Given the description of an element on the screen output the (x, y) to click on. 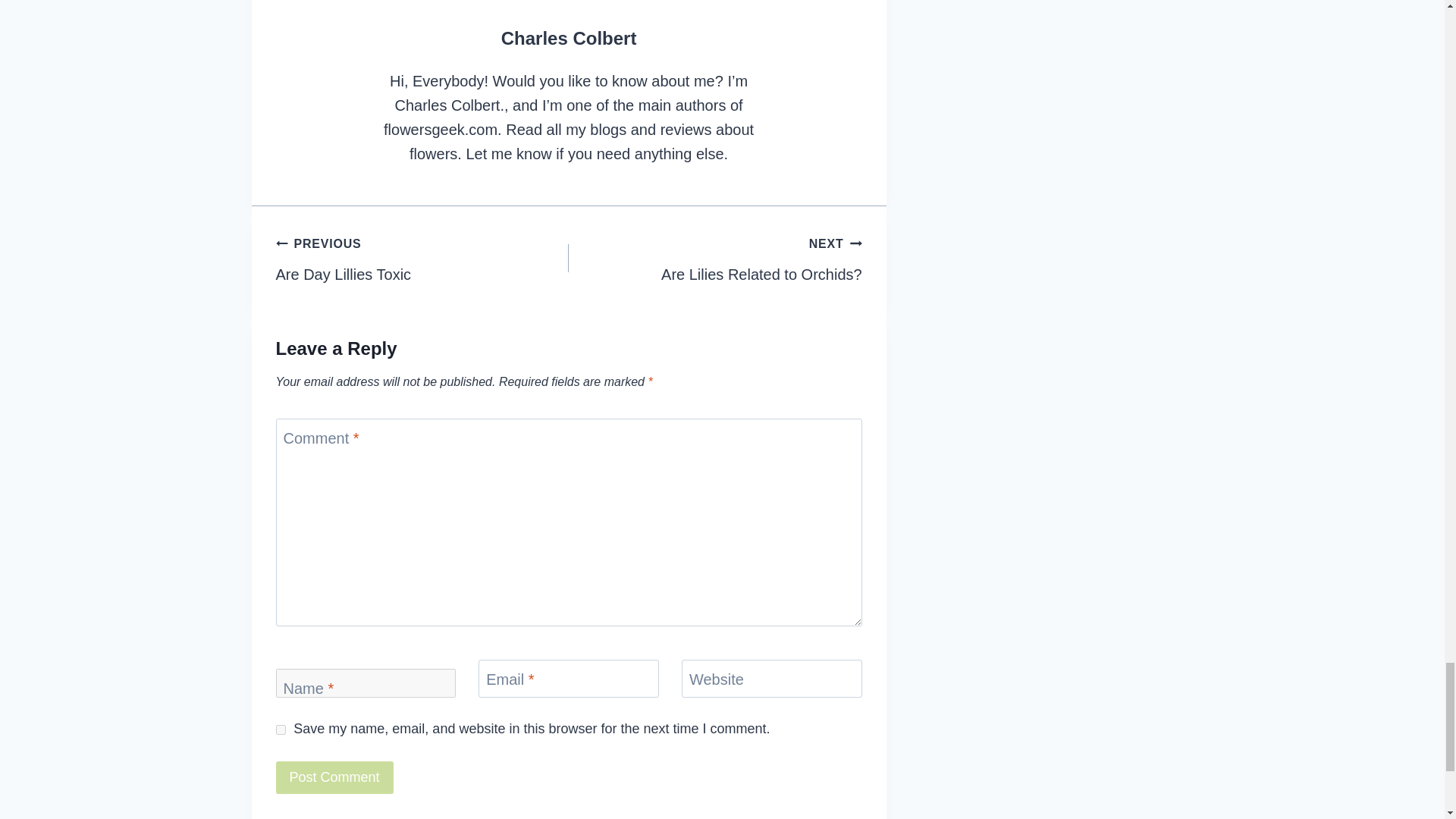
Posts by Charles Colbert (568, 37)
Post Comment (715, 258)
yes (422, 258)
Post Comment (334, 777)
Charles Colbert (280, 729)
